Given the description of an element on the screen output the (x, y) to click on. 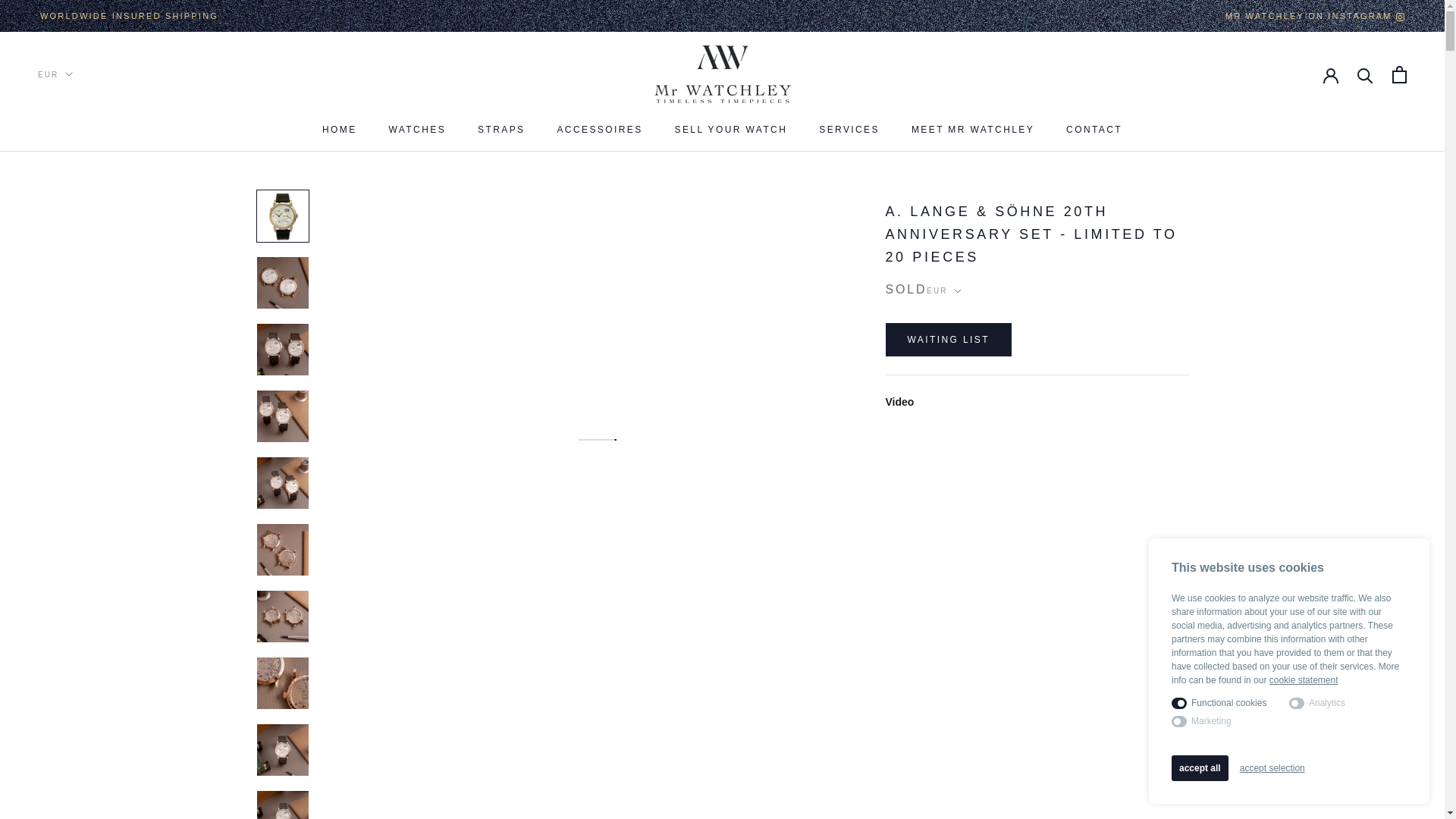
Currency selector (731, 129)
SERVICES (1093, 129)
Currency selector (54, 74)
